Given the description of an element on the screen output the (x, y) to click on. 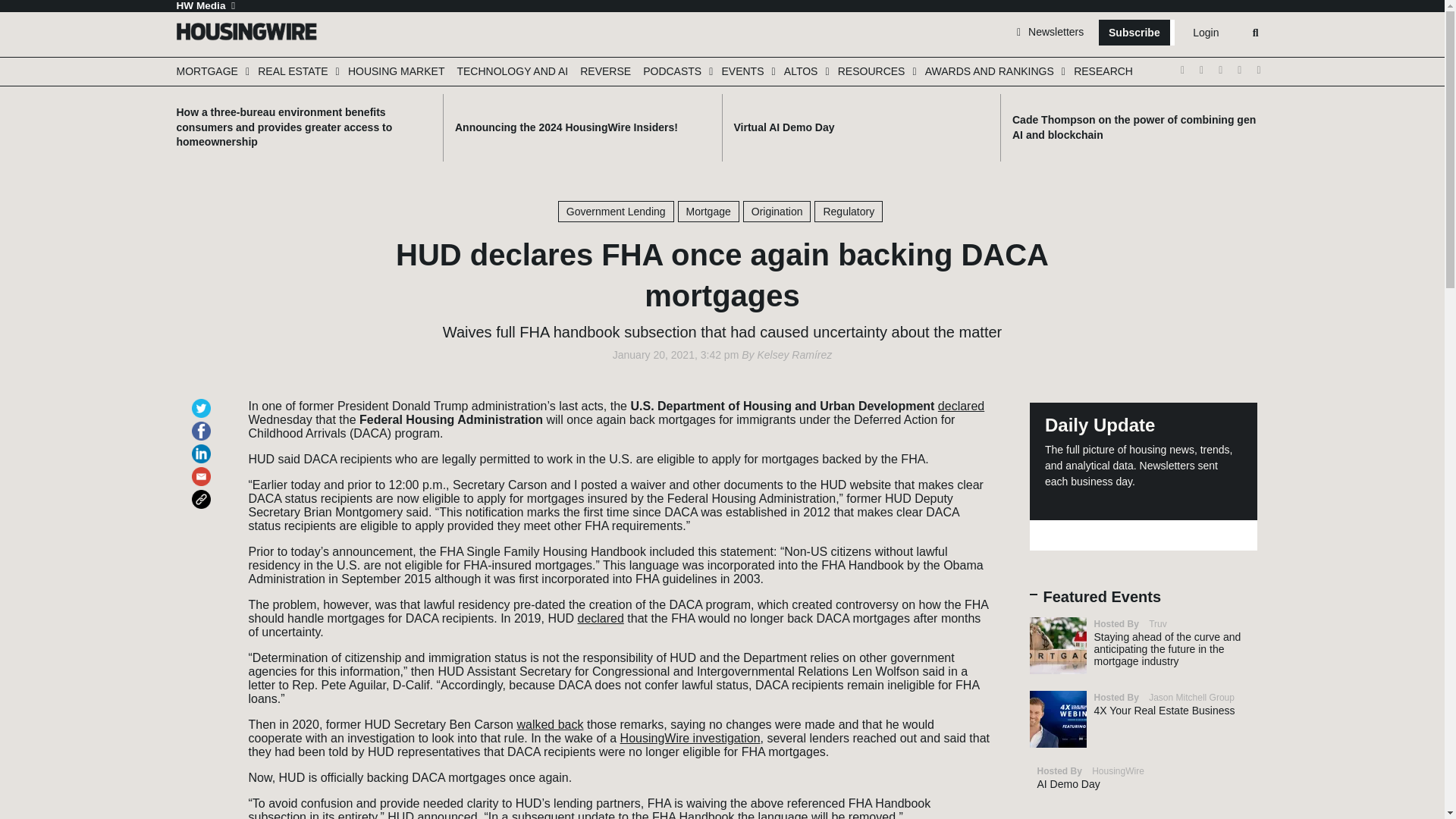
Login (1205, 32)
Click to share on LinkedIn (203, 446)
Click to share on Facebook (203, 423)
Click to email a link to a friend (203, 469)
Click to copy link (203, 492)
Newsletters (1049, 31)
Click to share on Twitter (203, 401)
